Given the description of an element on the screen output the (x, y) to click on. 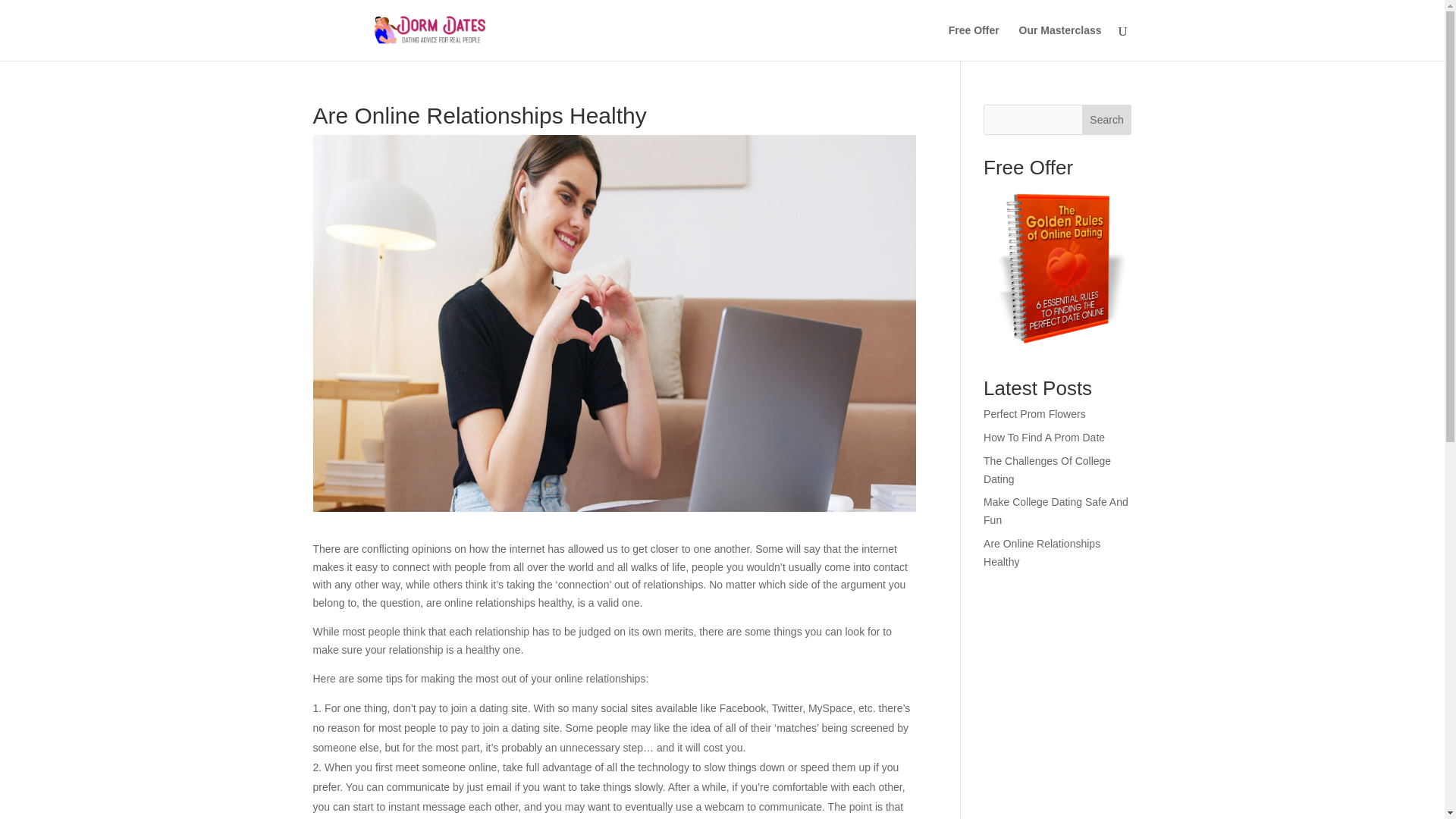
How To Find A Prom Date (1044, 437)
Are Online Relationships Healthy (1042, 552)
Our Masterclass (1060, 42)
The Challenges Of College Dating (1047, 470)
Free Offer (973, 42)
Perfect Prom Flowers (1035, 413)
Make College Dating Safe And Fun (1056, 511)
Search (1106, 119)
